Given the description of an element on the screen output the (x, y) to click on. 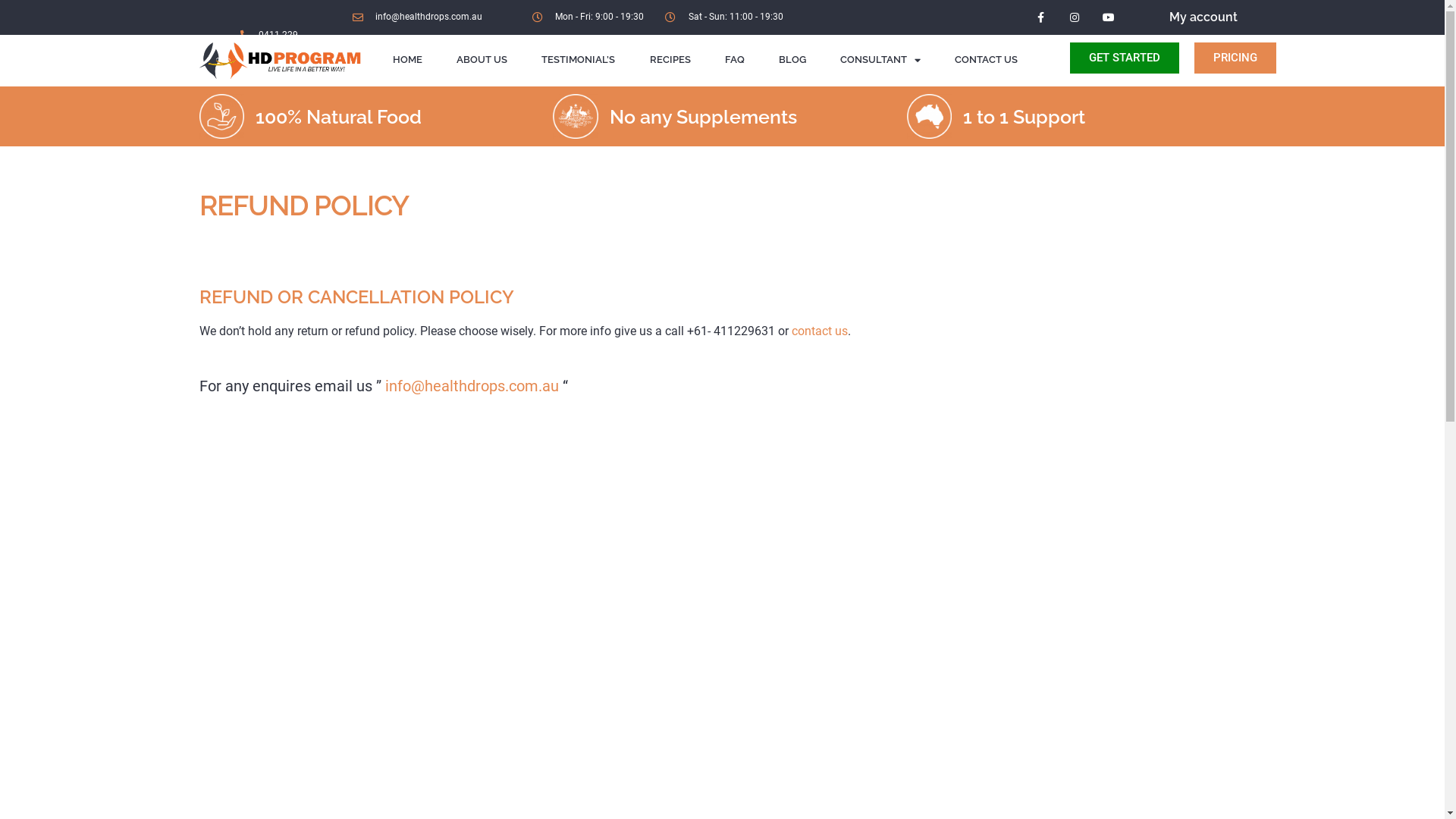
CONSULTANT Element type: text (879, 59)
CONTACT US Element type: text (985, 59)
0411-229-... Element type: text (279, 33)
HOME Element type: text (407, 59)
PRICING Element type: text (1235, 57)
contact us Element type: text (819, 330)
GET STARTED Element type: text (1124, 57)
ABOUT US Element type: text (481, 59)
FAQ Element type: text (734, 59)
My account Element type: text (1203, 17)
info@healthdrops.com.au Element type: text (417, 16)
RECIPES Element type: text (669, 59)
BLOG Element type: text (791, 59)
